Given the description of an element on the screen output the (x, y) to click on. 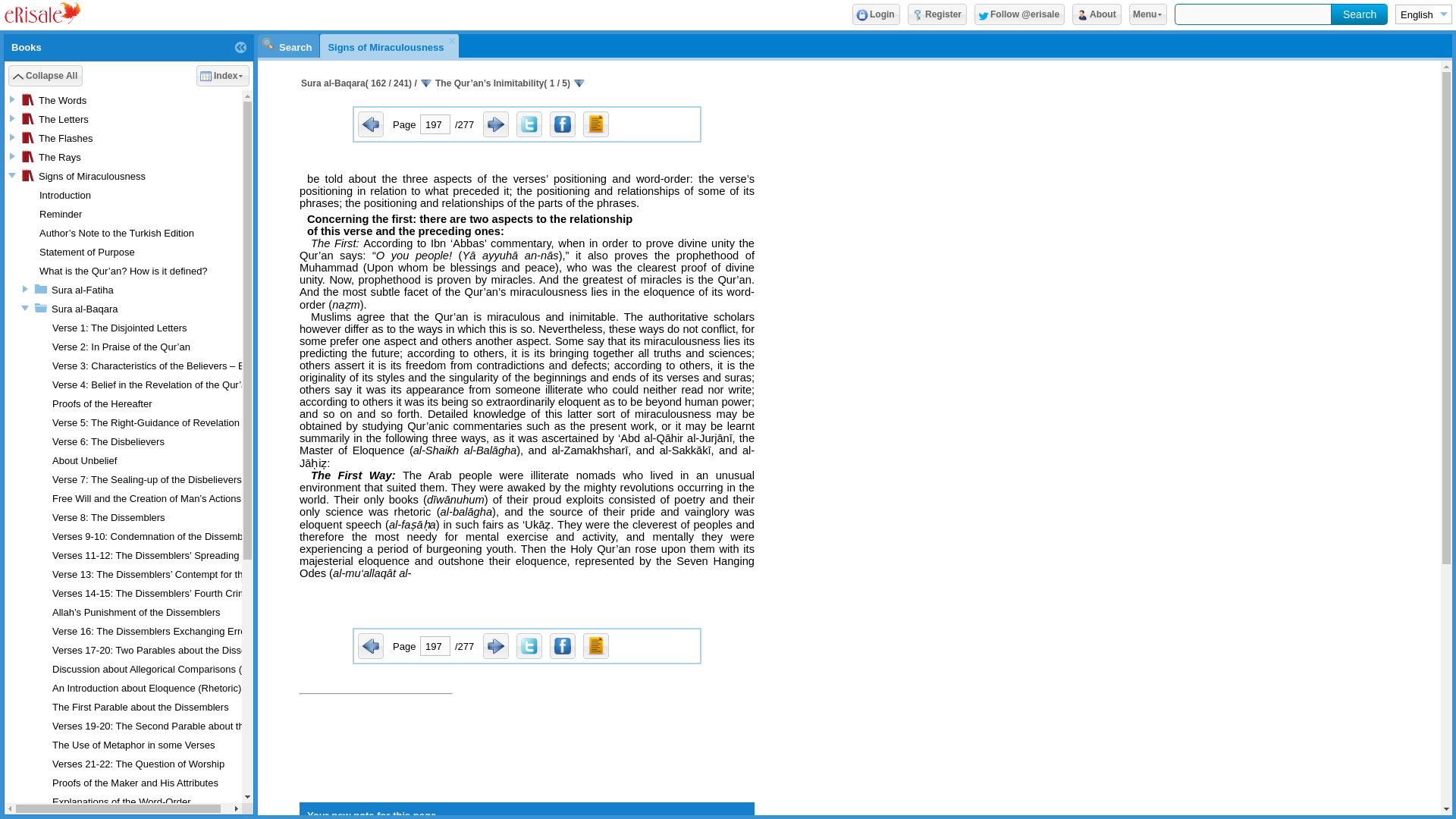
Search (1358, 14)
197 (435, 646)
197 (435, 124)
English (1415, 13)
